Given the description of an element on the screen output the (x, y) to click on. 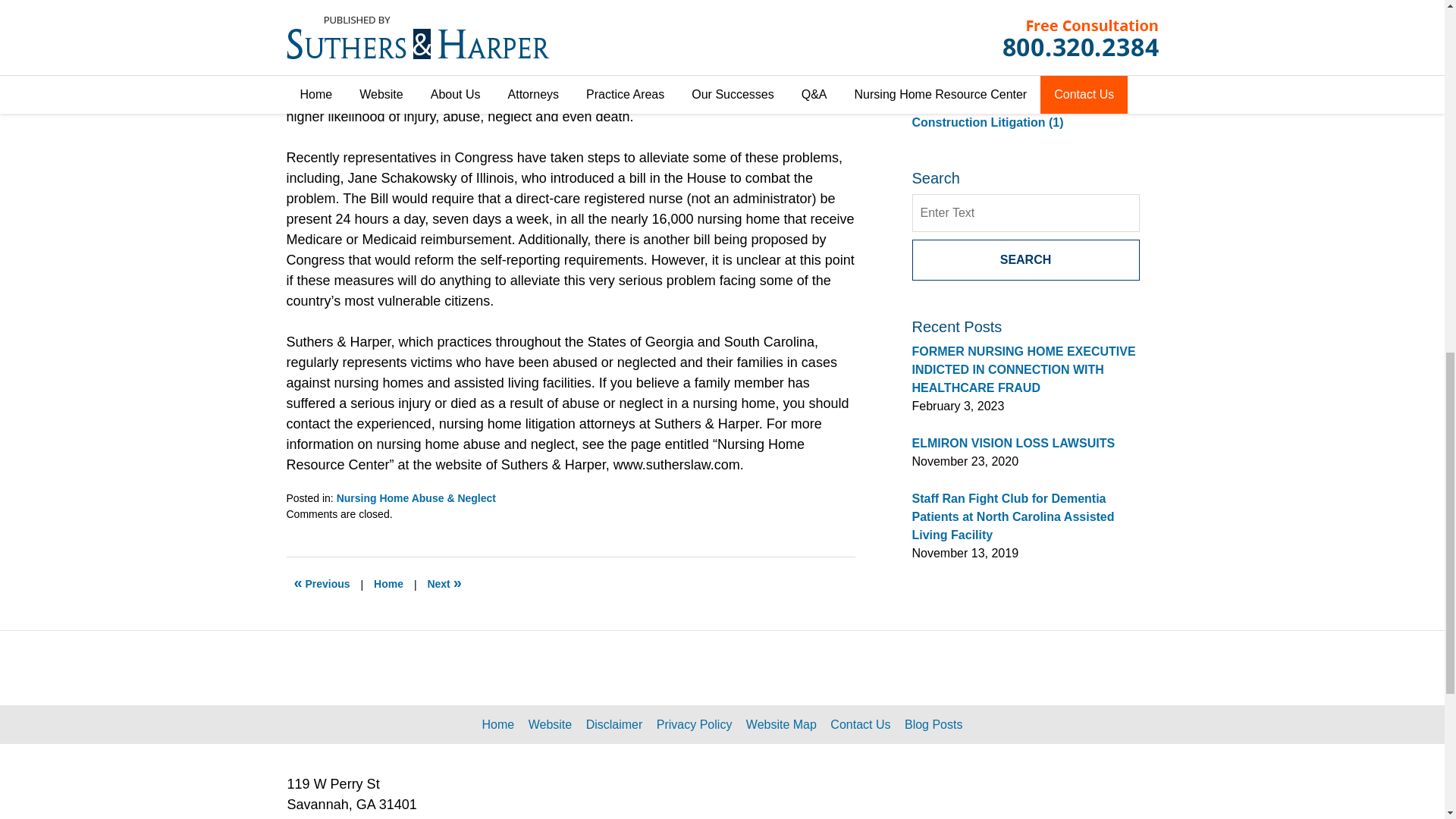
Takata Airbag Recalls (322, 584)
Home (388, 584)
